Given the description of an element on the screen output the (x, y) to click on. 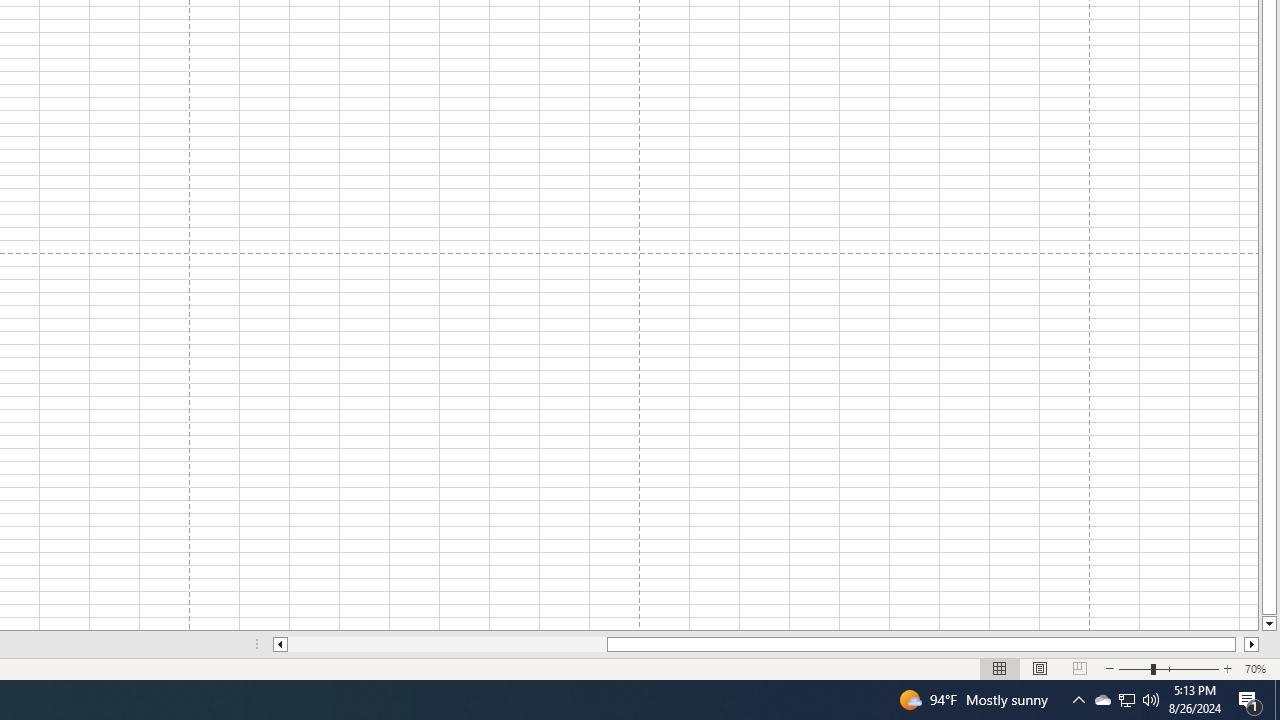
Page left (447, 644)
